Given the description of an element on the screen output the (x, y) to click on. 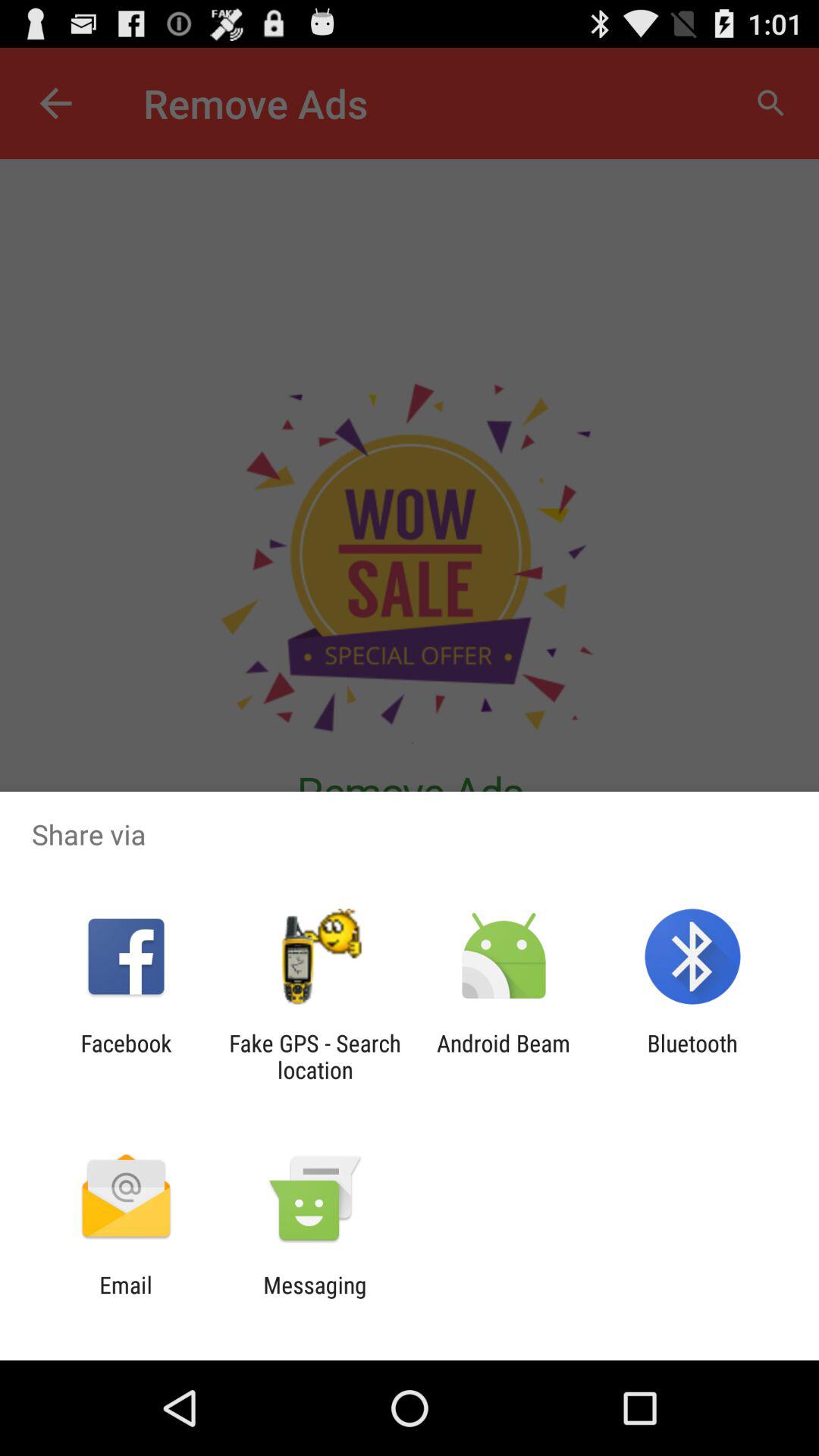
turn off item to the right of the fake gps search icon (503, 1056)
